Given the description of an element on the screen output the (x, y) to click on. 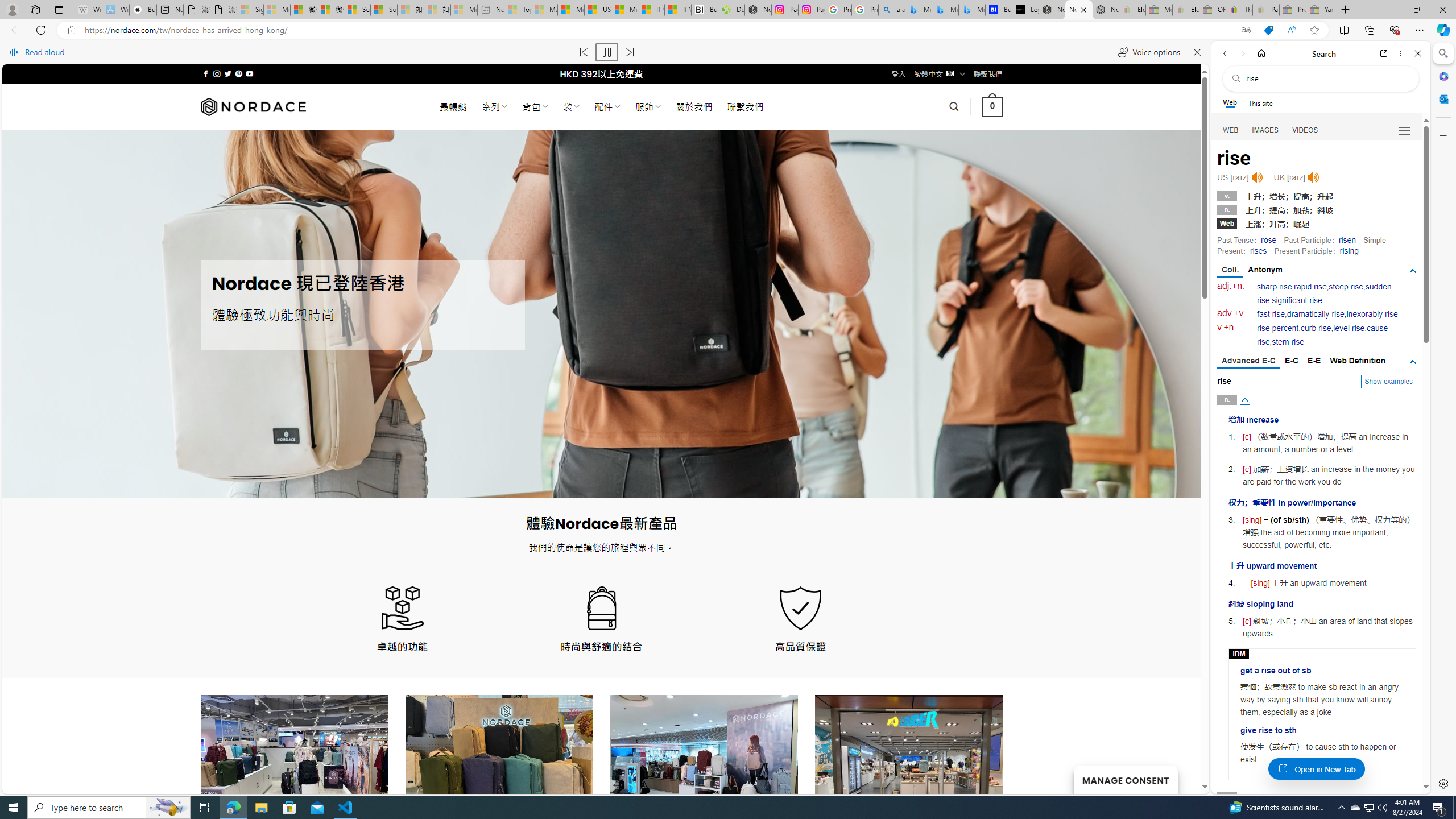
Click to listen (1313, 177)
